Given the description of an element on the screen output the (x, y) to click on. 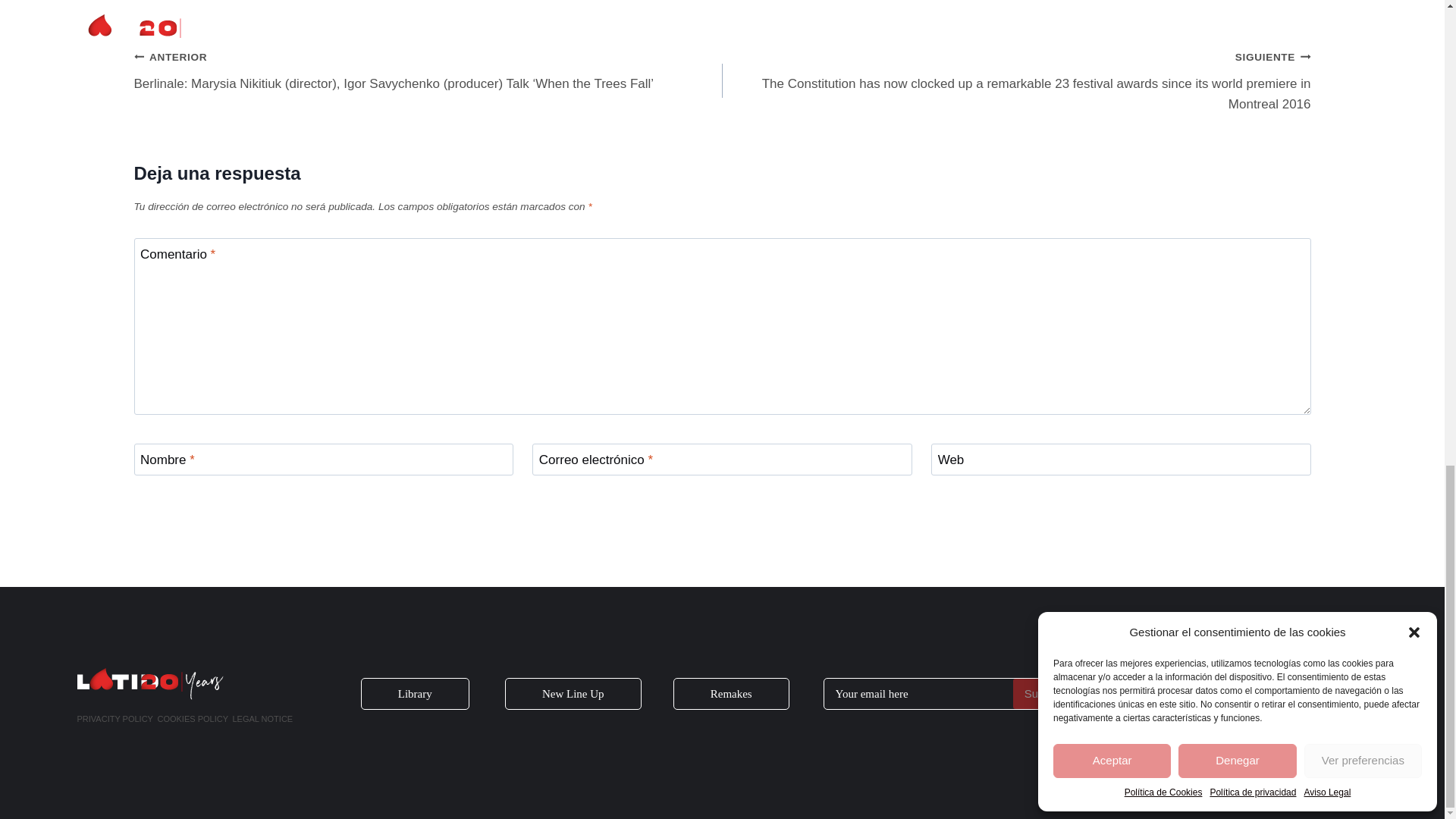
Publicar el comentario (209, 510)
COOKIES POLICY (192, 719)
LEGAL NOTICE (261, 719)
Click here for the full list of nominees. (240, 5)
Publicar el comentario (209, 510)
PRIVACITY POLICY (114, 719)
Library (414, 694)
New Line Up (573, 694)
